Given the description of an element on the screen output the (x, y) to click on. 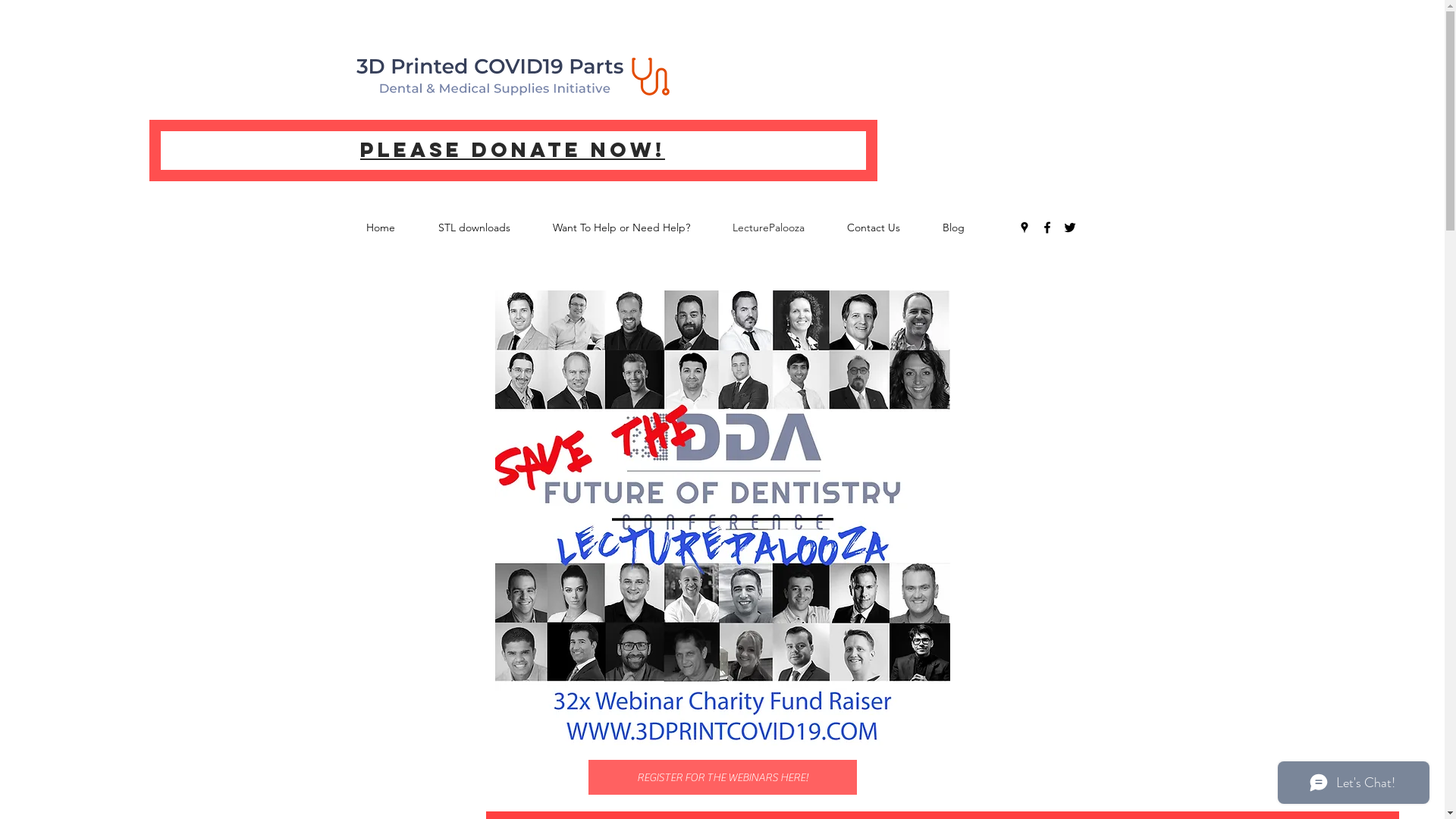
REGISTER FOR THE WEBINARS HERE! Element type: text (722, 776)
please DONATE NOW! Element type: text (512, 150)
Blog Element type: text (966, 227)
lecturepalooza.jpg Element type: hover (721, 517)
Want To Help or Need Help? Element type: text (634, 227)
LecturePalooza Element type: text (781, 227)
Home Element type: text (393, 227)
Contact Us Element type: text (886, 227)
STL downloads Element type: text (487, 227)
